Given the description of an element on the screen output the (x, y) to click on. 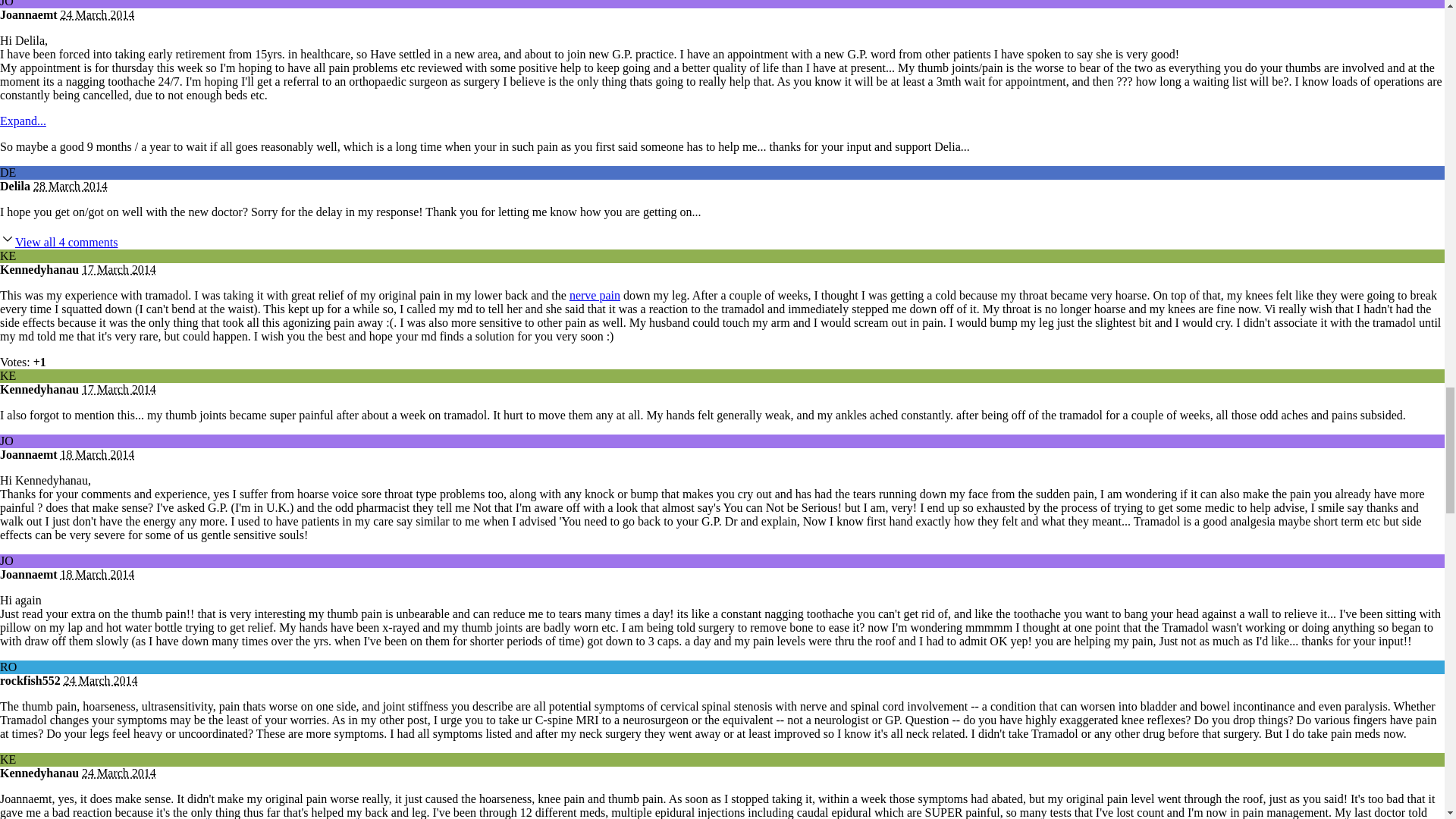
17 March 2014 9:52am (118, 389)
17 March 2014 9:50am (118, 269)
24 March 2014 7:18am (101, 680)
18 March 2014 6:40am (98, 574)
28 March 2014 8:11am (70, 185)
18 March 2014 6:31am (98, 454)
24 March 2014 5:56am (98, 14)
